Given the description of an element on the screen output the (x, y) to click on. 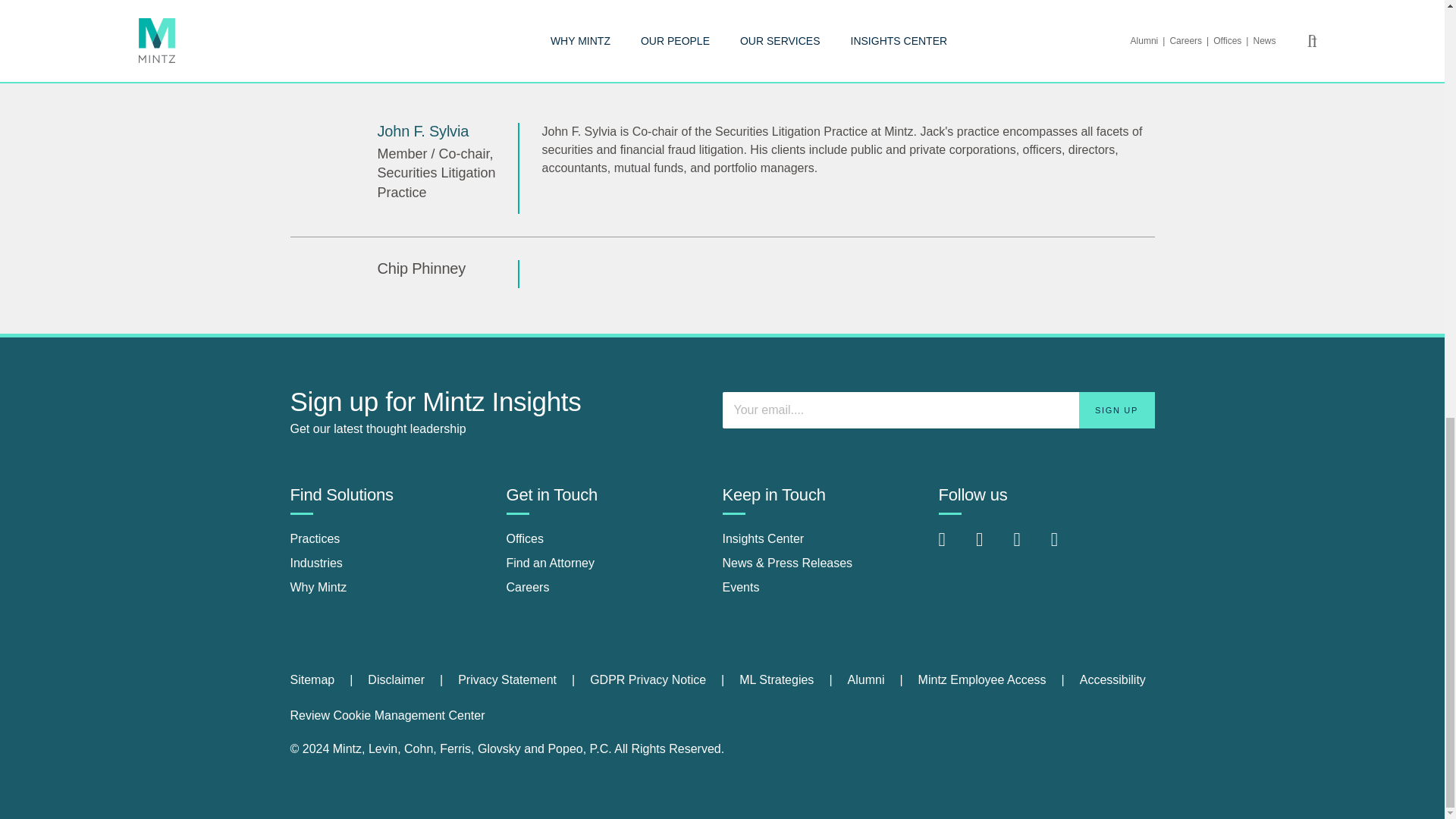
Practices (314, 538)
Facebook (990, 546)
Sign Up (1116, 410)
John F. Sylvia (422, 130)
LinkedIn (954, 546)
Sign Up (1116, 410)
X (1028, 546)
Industries (315, 562)
